Given the description of an element on the screen output the (x, y) to click on. 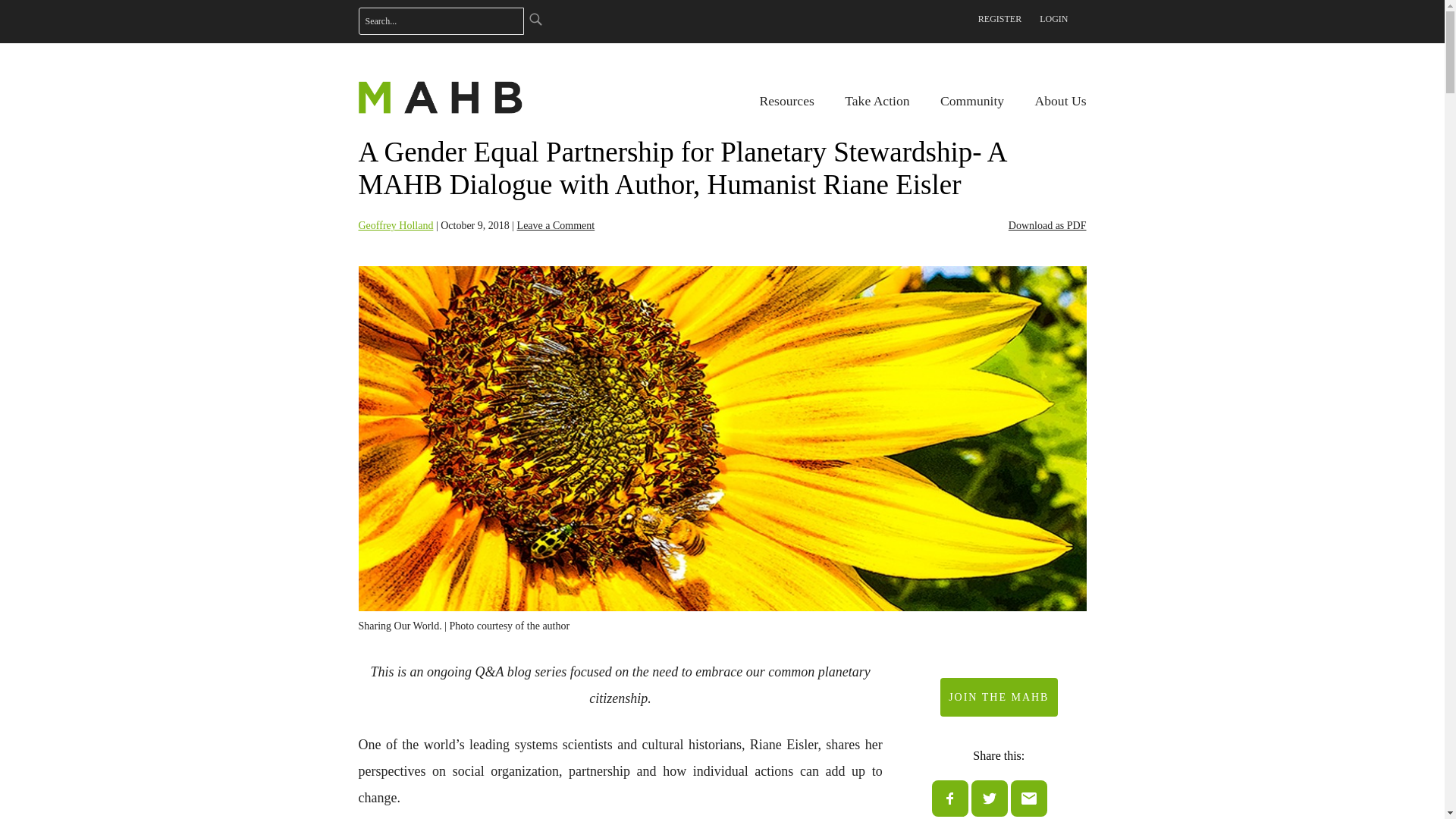
Search (534, 18)
Search (534, 18)
REGISTER (1000, 18)
Search (534, 18)
LOGIN (1053, 18)
